Given the description of an element on the screen output the (x, y) to click on. 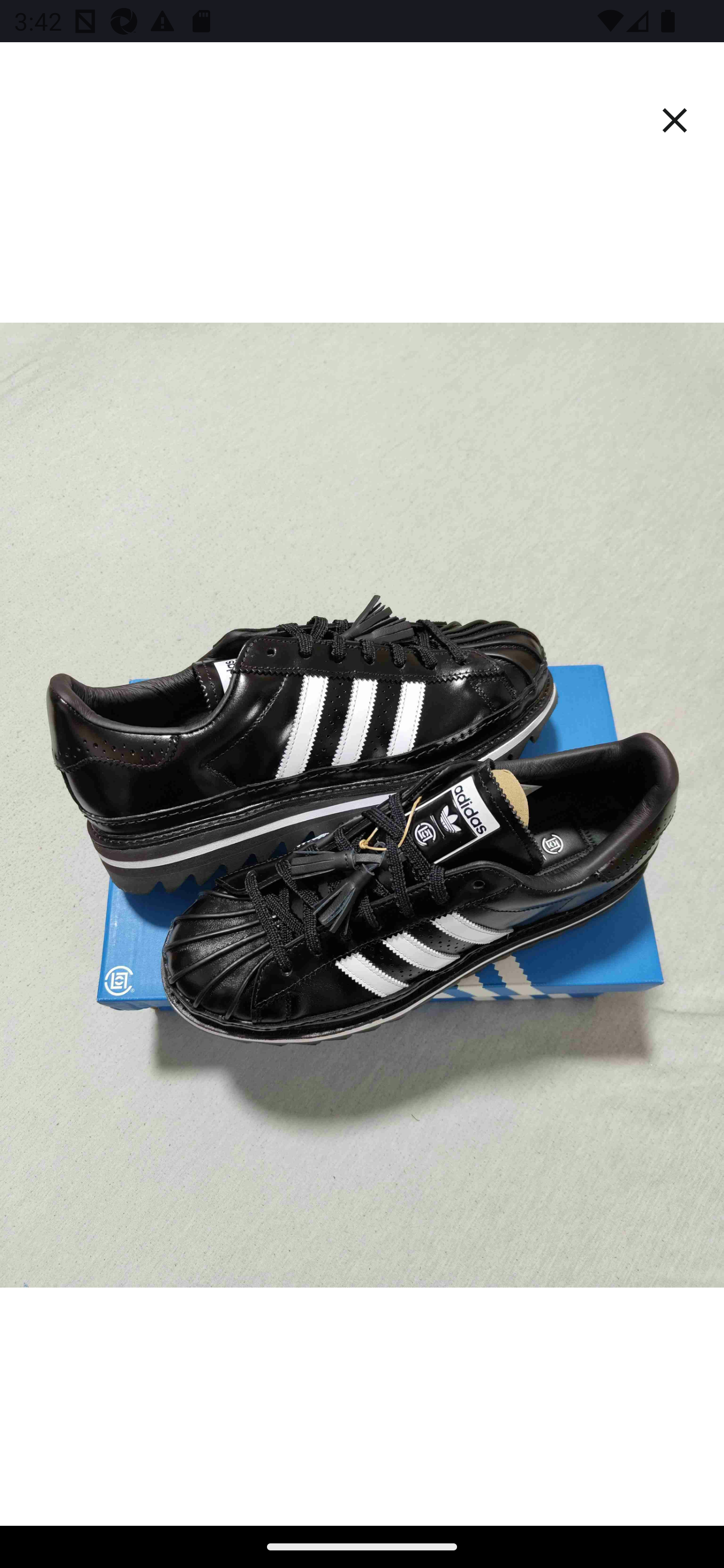
󰅖 (674, 119)
